Given the description of an element on the screen output the (x, y) to click on. 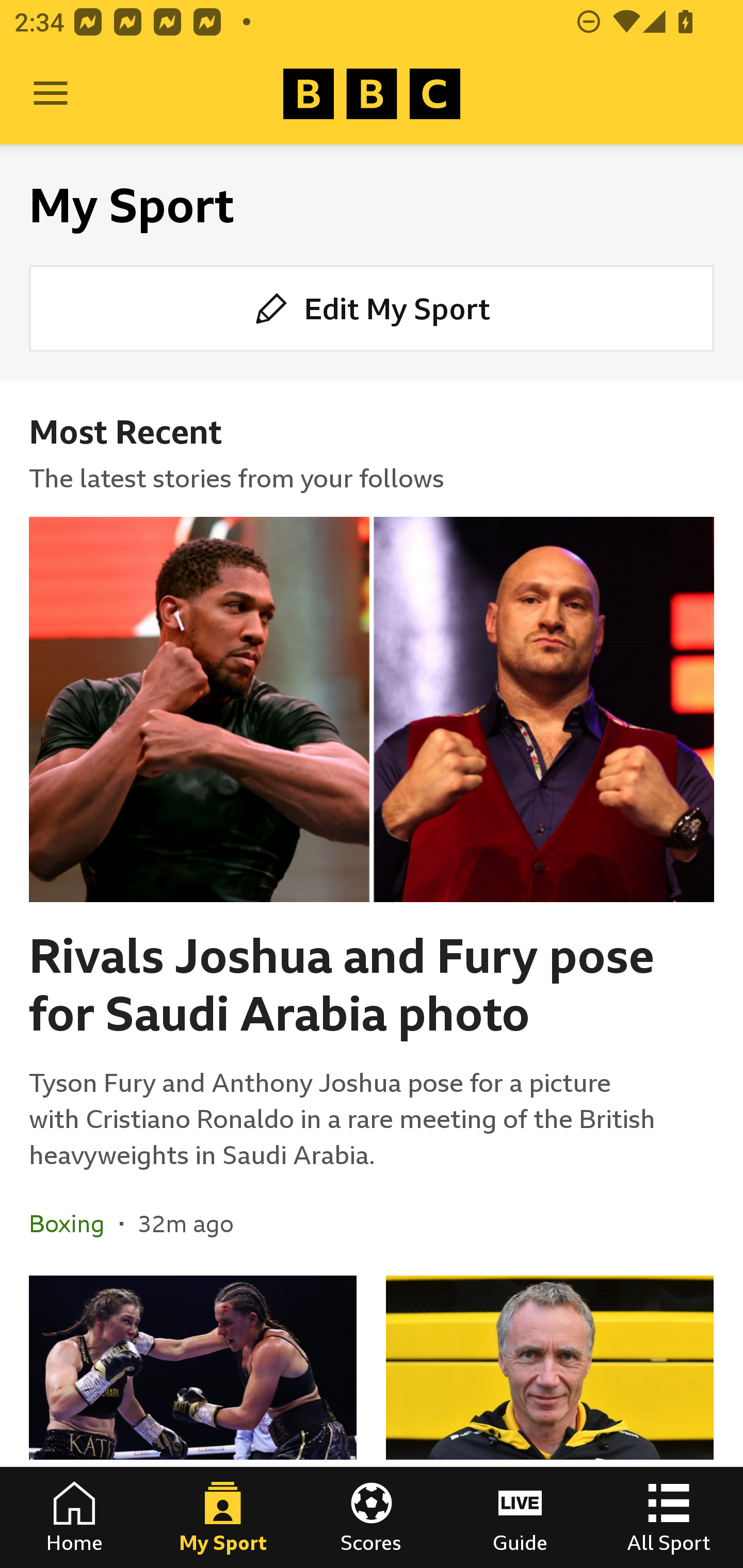
Open Menu (50, 93)
Edit My Sport (371, 307)
Taylor-Cameron trilogy will happen in 2024 - Hearn (192, 1421)
Engineer Bell leaves struggling Alpine (549, 1421)
Home (74, 1517)
Scores (371, 1517)
Guide (519, 1517)
All Sport (668, 1517)
